Given the description of an element on the screen output the (x, y) to click on. 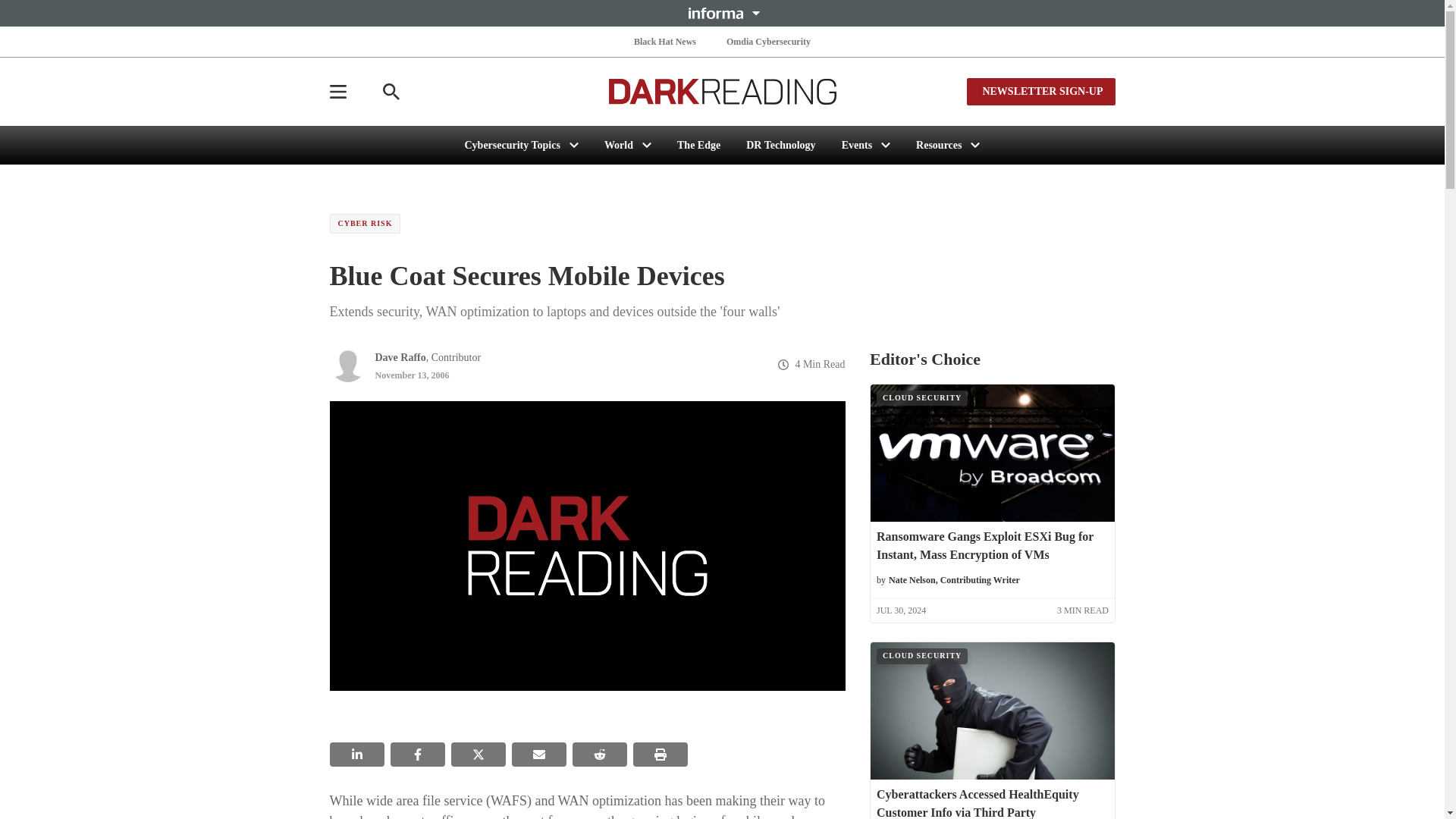
Dark Reading Logo (721, 91)
NEWSLETTER SIGN-UP (1040, 90)
Omdia Cybersecurity (768, 41)
Black Hat News (664, 41)
Picture of Dave Raffo (347, 364)
